Given the description of an element on the screen output the (x, y) to click on. 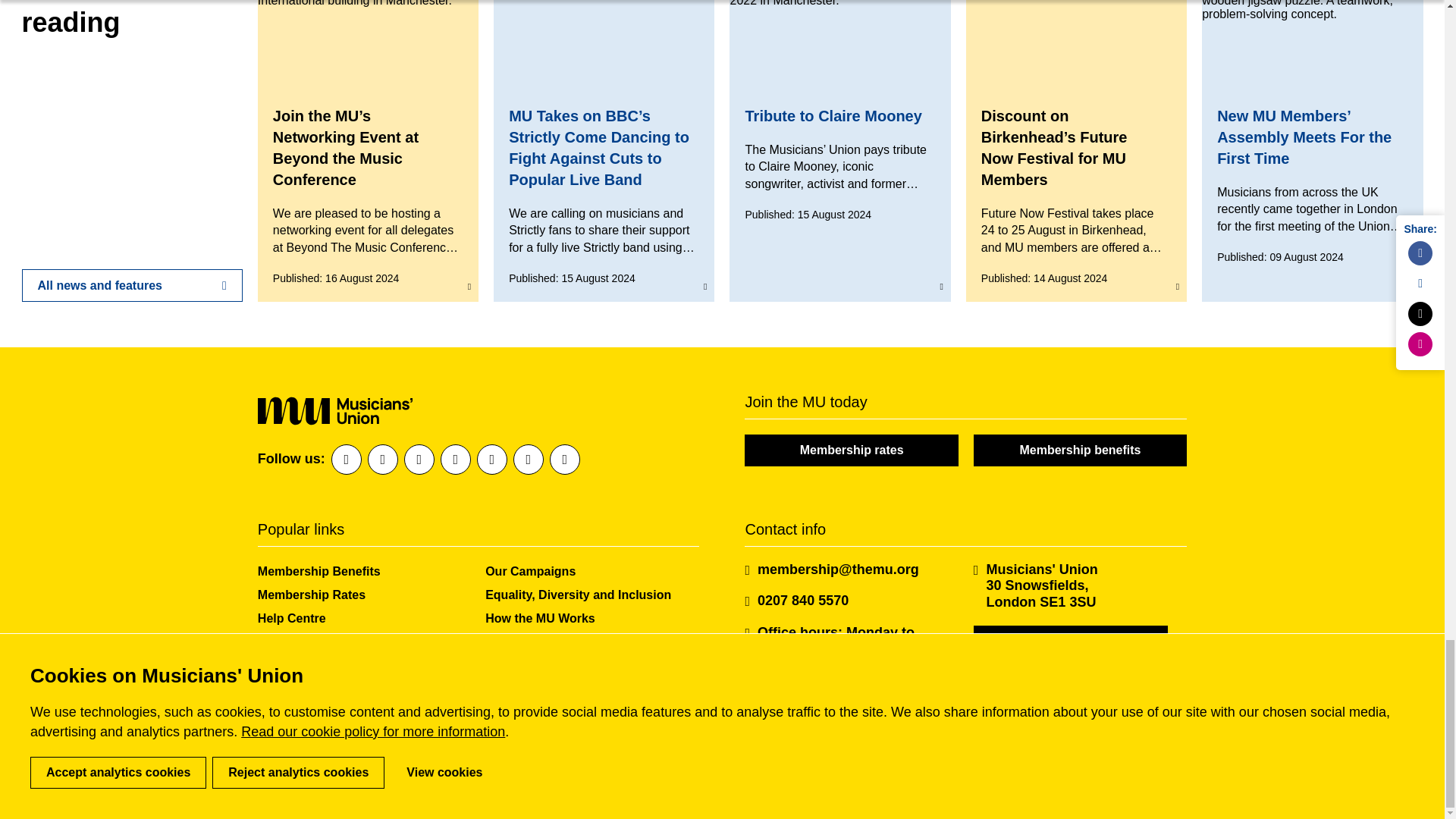
TikTok (564, 459)
Instagram (455, 459)
YouTube (528, 459)
Spotify (491, 459)
LinkedIn (382, 459)
X (418, 459)
Facebook (346, 459)
